Given the description of an element on the screen output the (x, y) to click on. 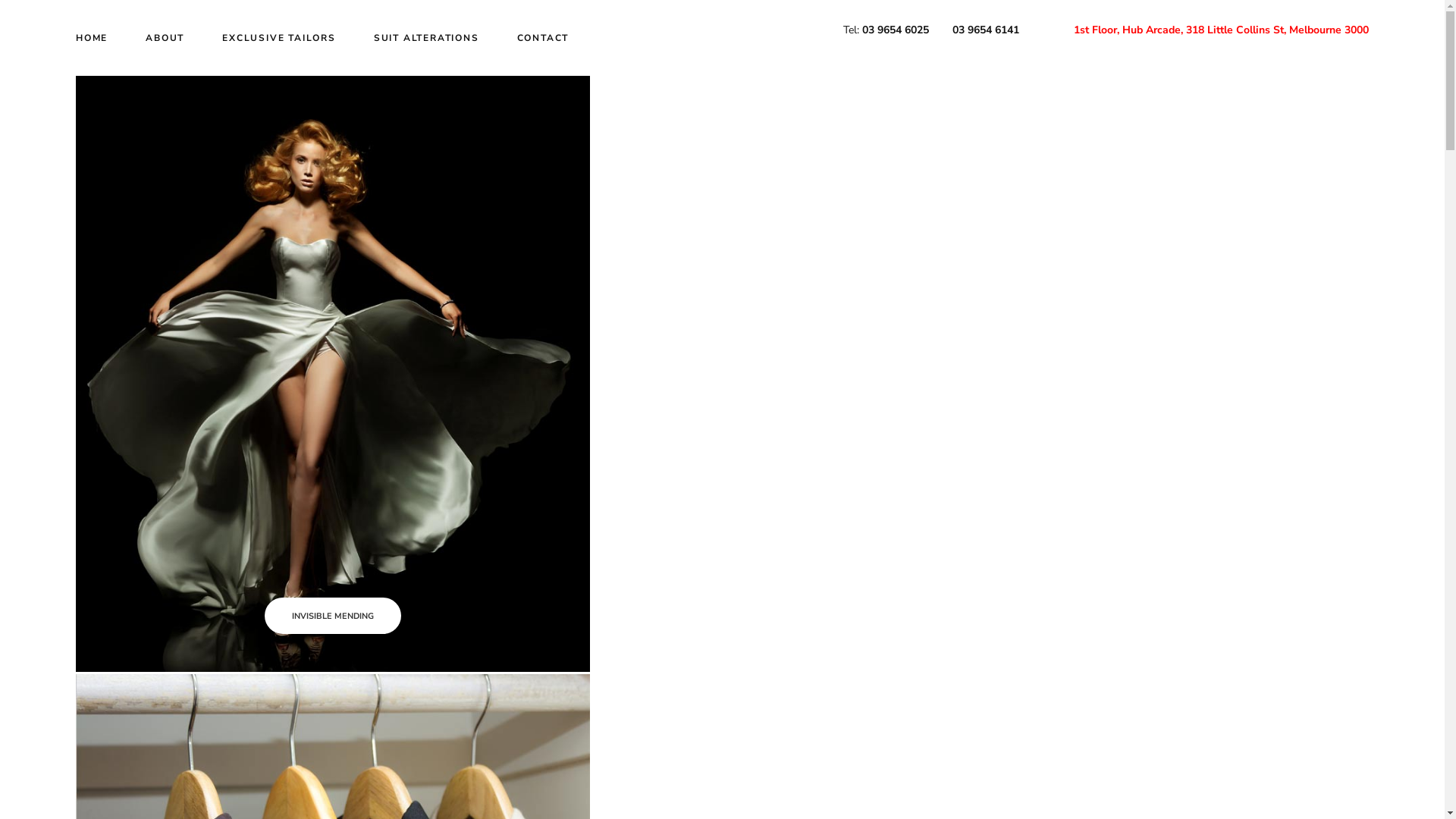
CONTACT Element type: text (543, 37)
INVISIBLE MENDING Element type: text (332, 615)
EXCLUSIVE TAILORS Element type: text (278, 37)
HOME Element type: text (91, 37)
Tel: 03 9654 6025 Element type: text (885, 33)
ABOUT Element type: text (164, 37)
03 9654 6141 Element type: text (985, 33)
SUIT ALTERATIONS Element type: text (426, 37)
